Given the description of an element on the screen output the (x, y) to click on. 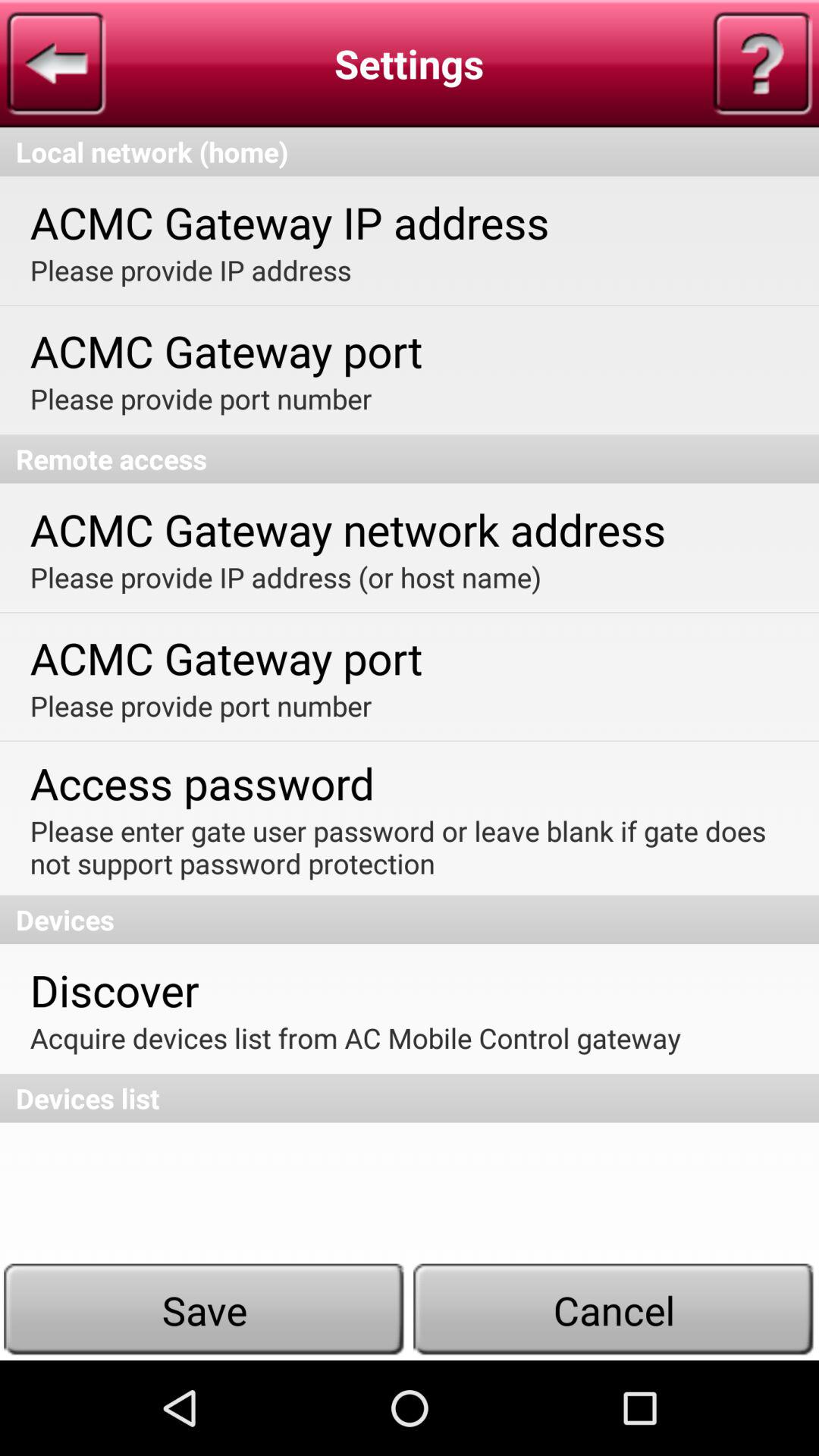
select the icon to the left of the settings (55, 63)
